Given the description of an element on the screen output the (x, y) to click on. 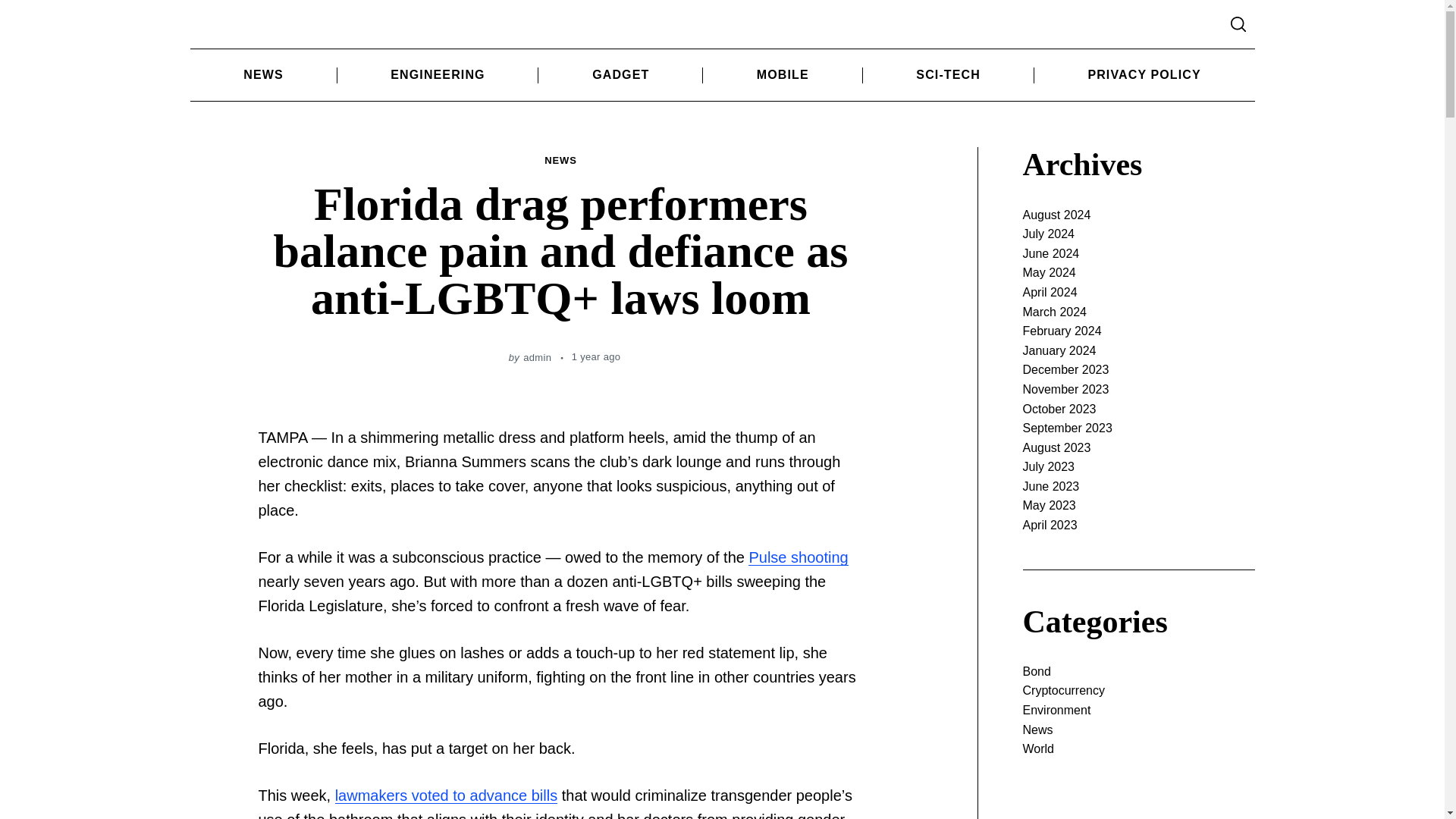
NEWS (262, 74)
MOBILE (782, 74)
admin (536, 357)
PRIVACY POLICY (1144, 74)
NEWS (560, 160)
SCI-TECH (948, 74)
lawmakers voted to advance bills (445, 795)
Pulse shooting (797, 556)
GADGET (620, 74)
ENGINEERING (437, 74)
